Given the description of an element on the screen output the (x, y) to click on. 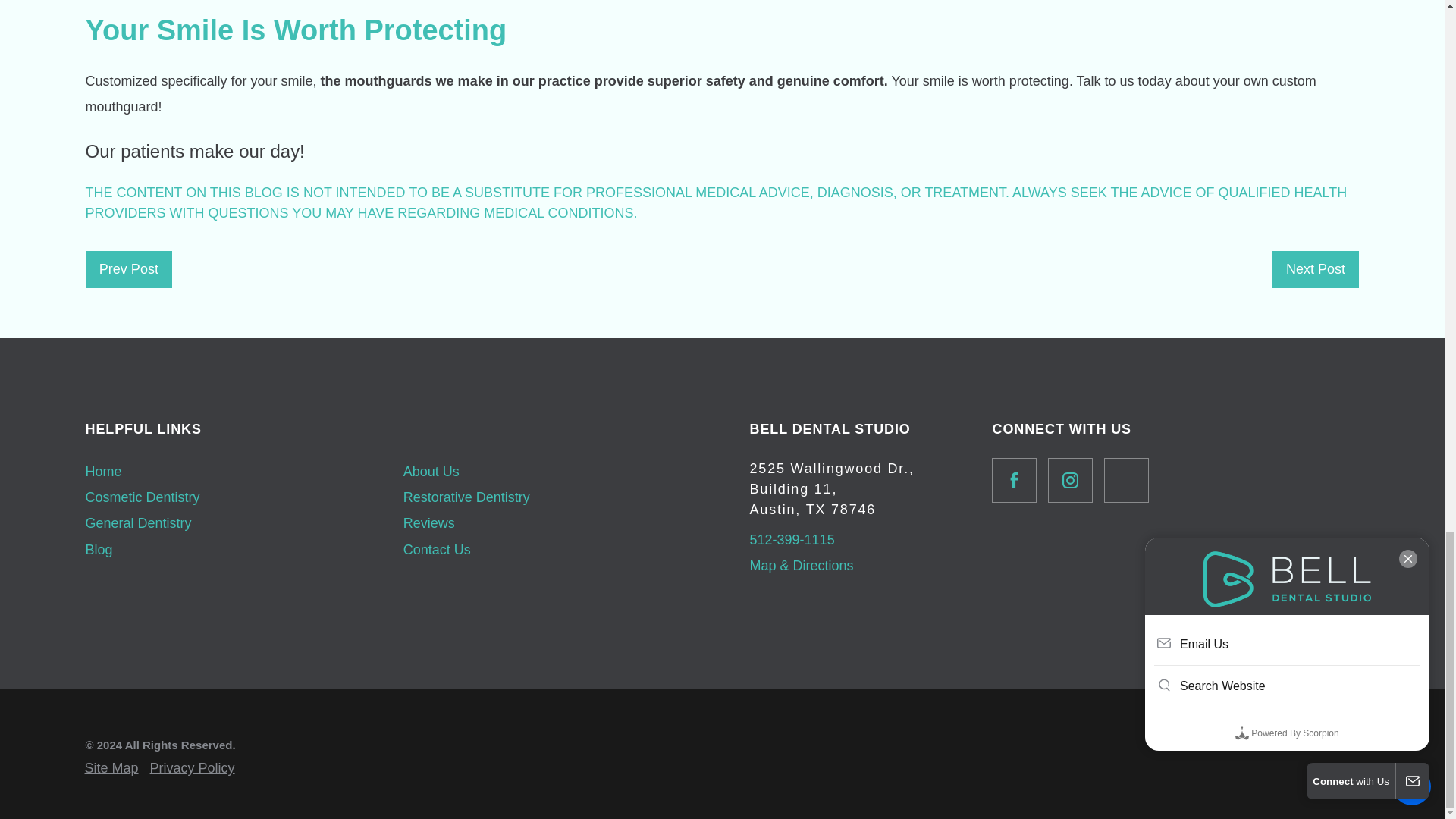
Instagram (1070, 479)
Facebook (1013, 479)
Google Business Profile (1125, 479)
